Given the description of an element on the screen output the (x, y) to click on. 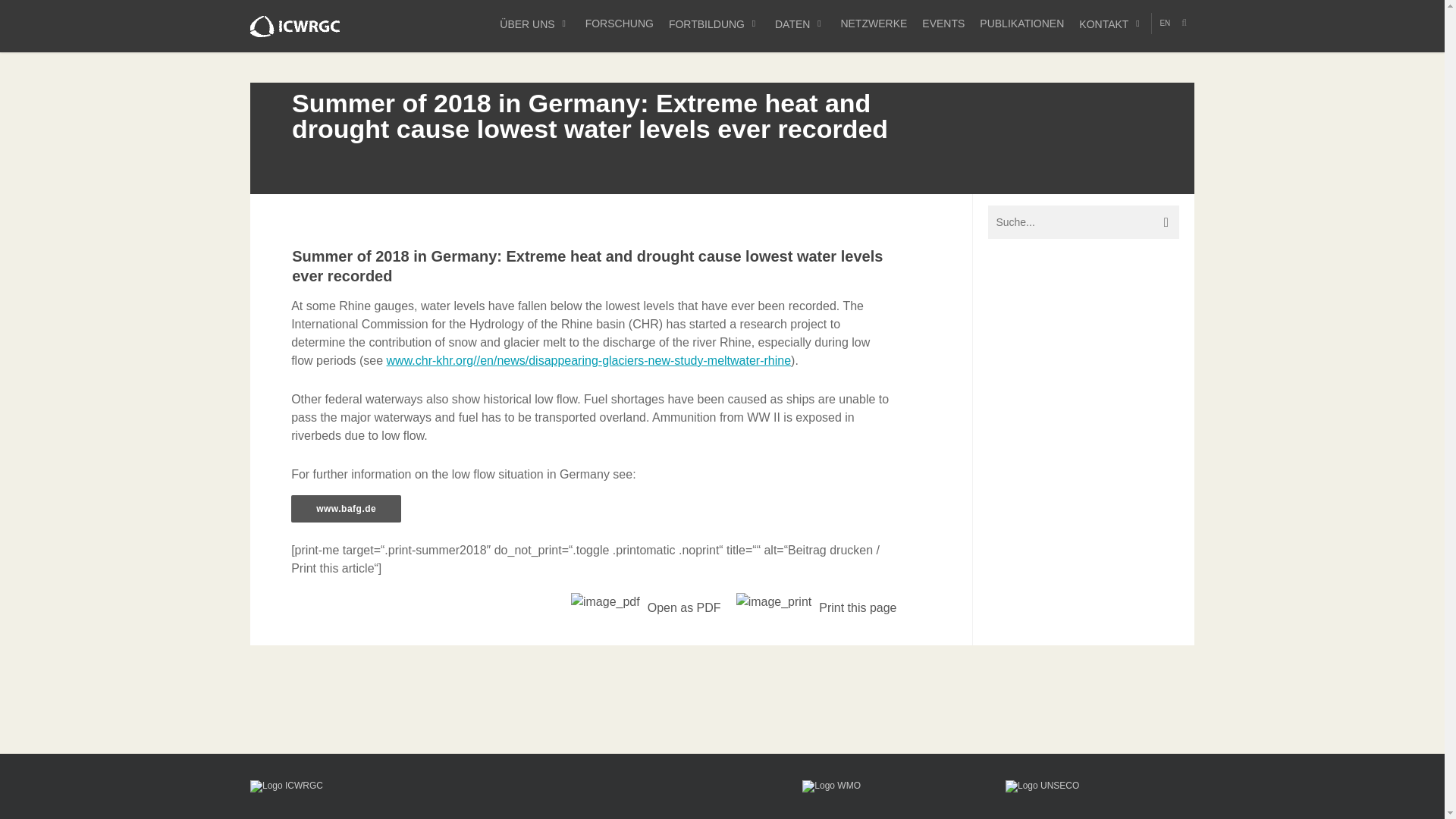
EN (1164, 23)
EVENTS (943, 23)
Daten (799, 23)
Search for: (1083, 222)
KONTAKT (1111, 23)
PDF anzeigen (605, 601)
FORTBILDUNG (714, 23)
Print this page (816, 607)
Forschungsprojekte (619, 23)
NETZWERKE (873, 23)
Aus- und Fortbildung (714, 23)
www.bafg.de (346, 508)
Netzwerke (873, 23)
Inhalt drucken (773, 601)
Open as PDF (646, 607)
